Given the description of an element on the screen output the (x, y) to click on. 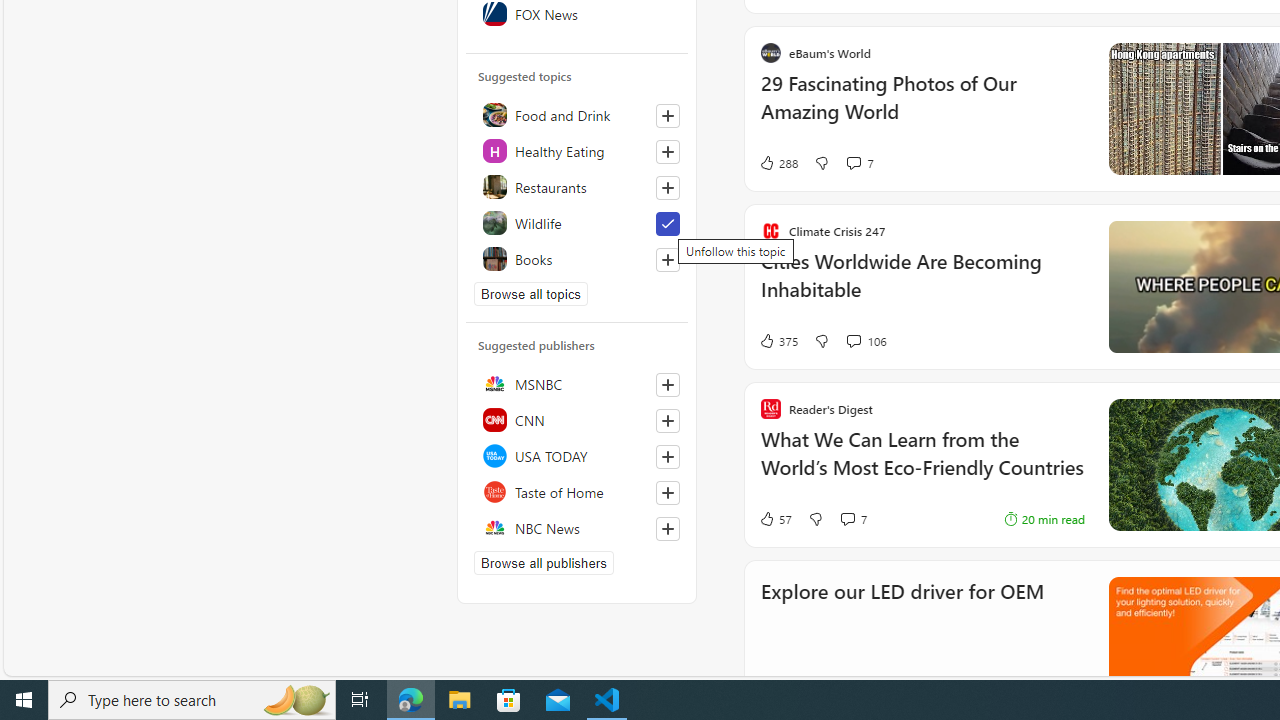
57 Like (775, 518)
View comments 106 Comment (852, 340)
Cities Worldwide Are Becoming Inhabitable (922, 285)
View comments 7 Comment (847, 519)
MSNBC (577, 384)
Explore our LED driver for OEM (902, 618)
Healthy Eating (577, 150)
Browse all topics (530, 294)
View comments 7 Comment (852, 518)
